Given the description of an element on the screen output the (x, y) to click on. 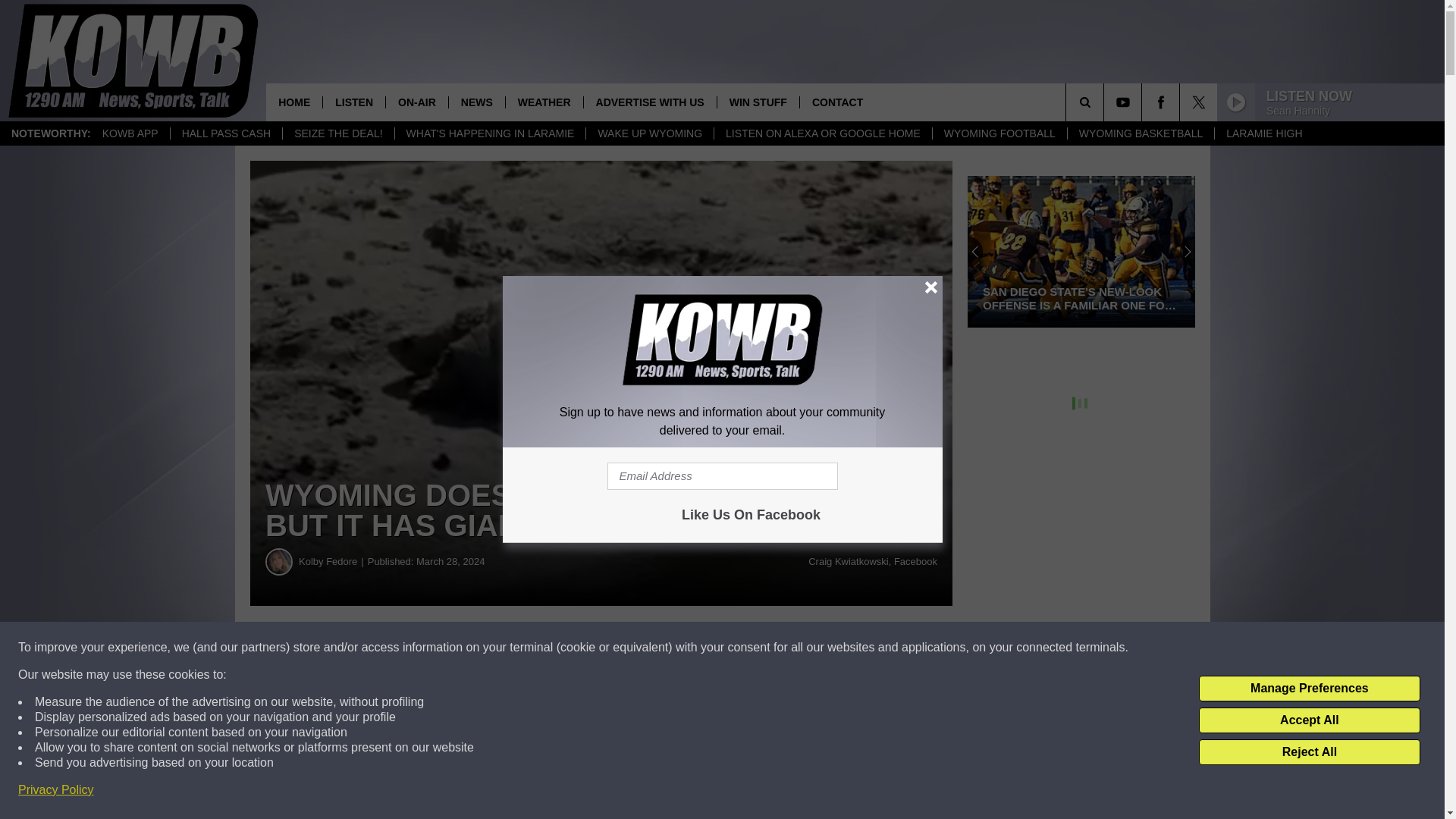
SEARCH (1106, 102)
ON-AIR (416, 102)
LARAMIE HIGH (1263, 133)
NEWS (476, 102)
KOWB APP (130, 133)
Manage Preferences (1309, 688)
Email Address (722, 475)
WHAT'S HAPPENING IN LARAMIE (490, 133)
WYOMING FOOTBALL (999, 133)
Reject All (1309, 751)
LISTEN ON ALEXA OR GOOGLE HOME (822, 133)
SEIZE THE DEAL! (337, 133)
SEARCH (1106, 102)
WYOMING BASKETBALL (1140, 133)
LISTEN (353, 102)
